Given the description of an element on the screen output the (x, y) to click on. 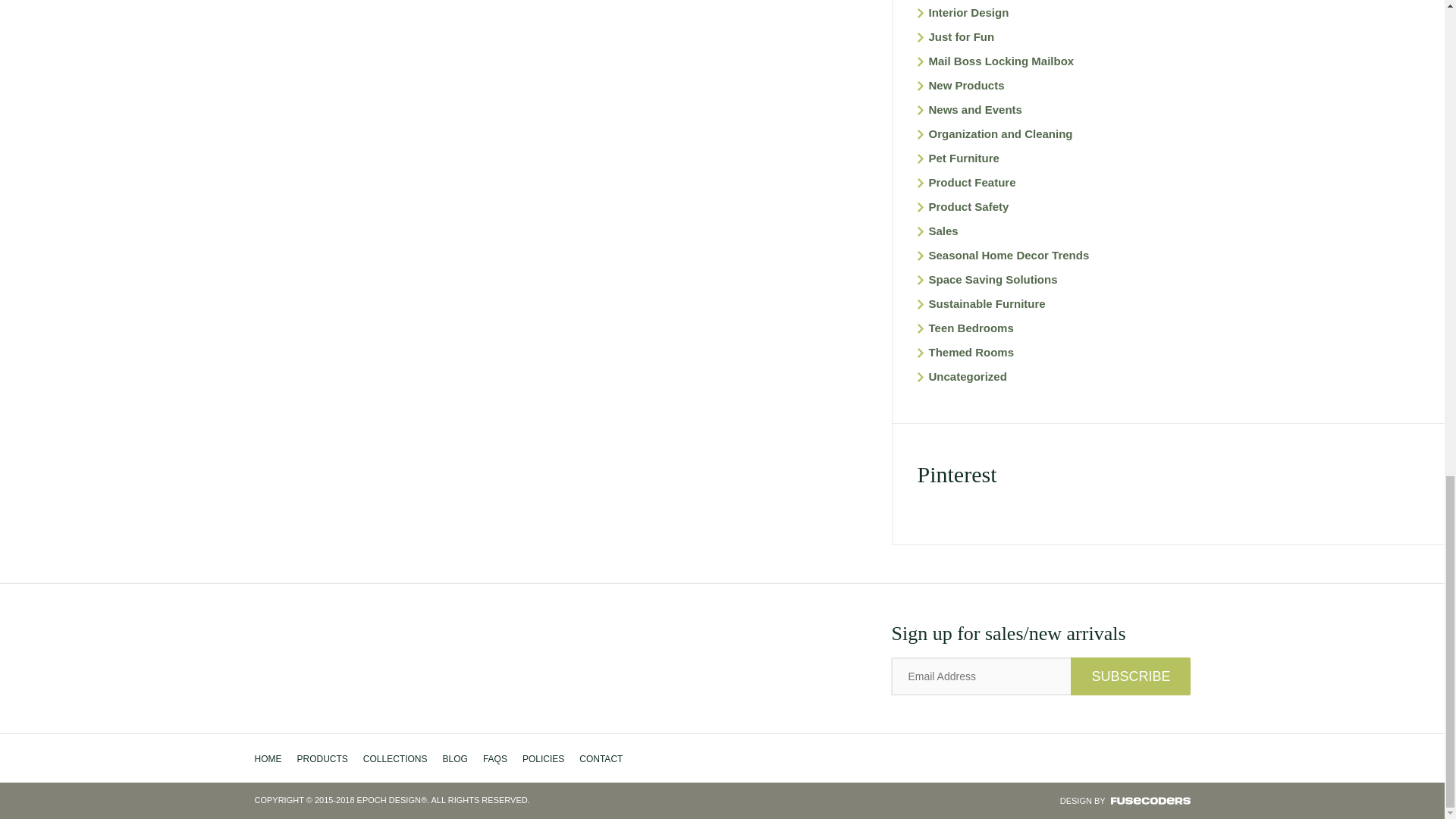
Subscribe (1130, 676)
